Given the description of an element on the screen output the (x, y) to click on. 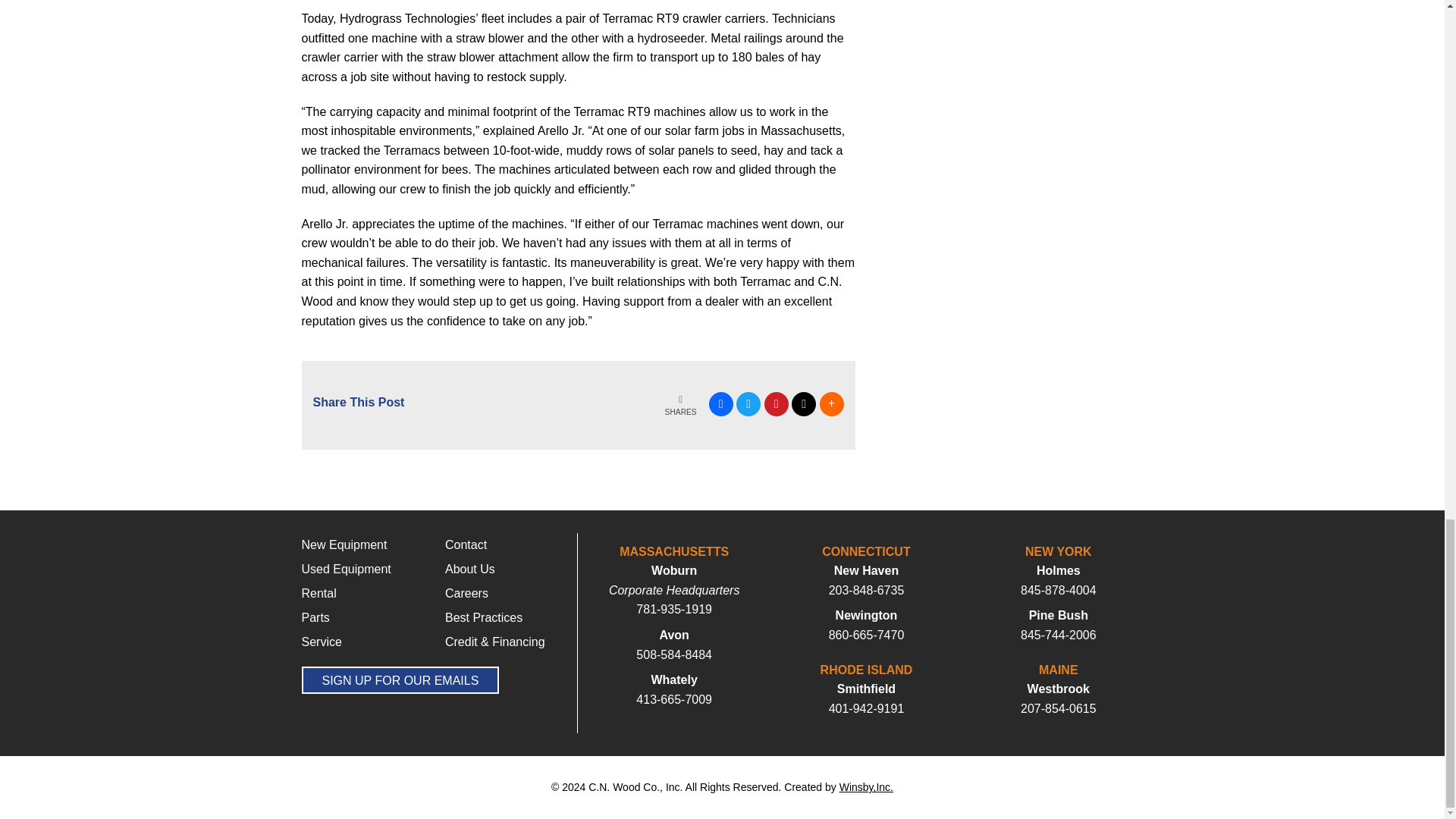
More share links (830, 404)
Tweet this ! (748, 404)
Share this on Facebook (721, 404)
Email this  (803, 404)
Submit this to Pinterest (776, 404)
